Given the description of an element on the screen output the (x, y) to click on. 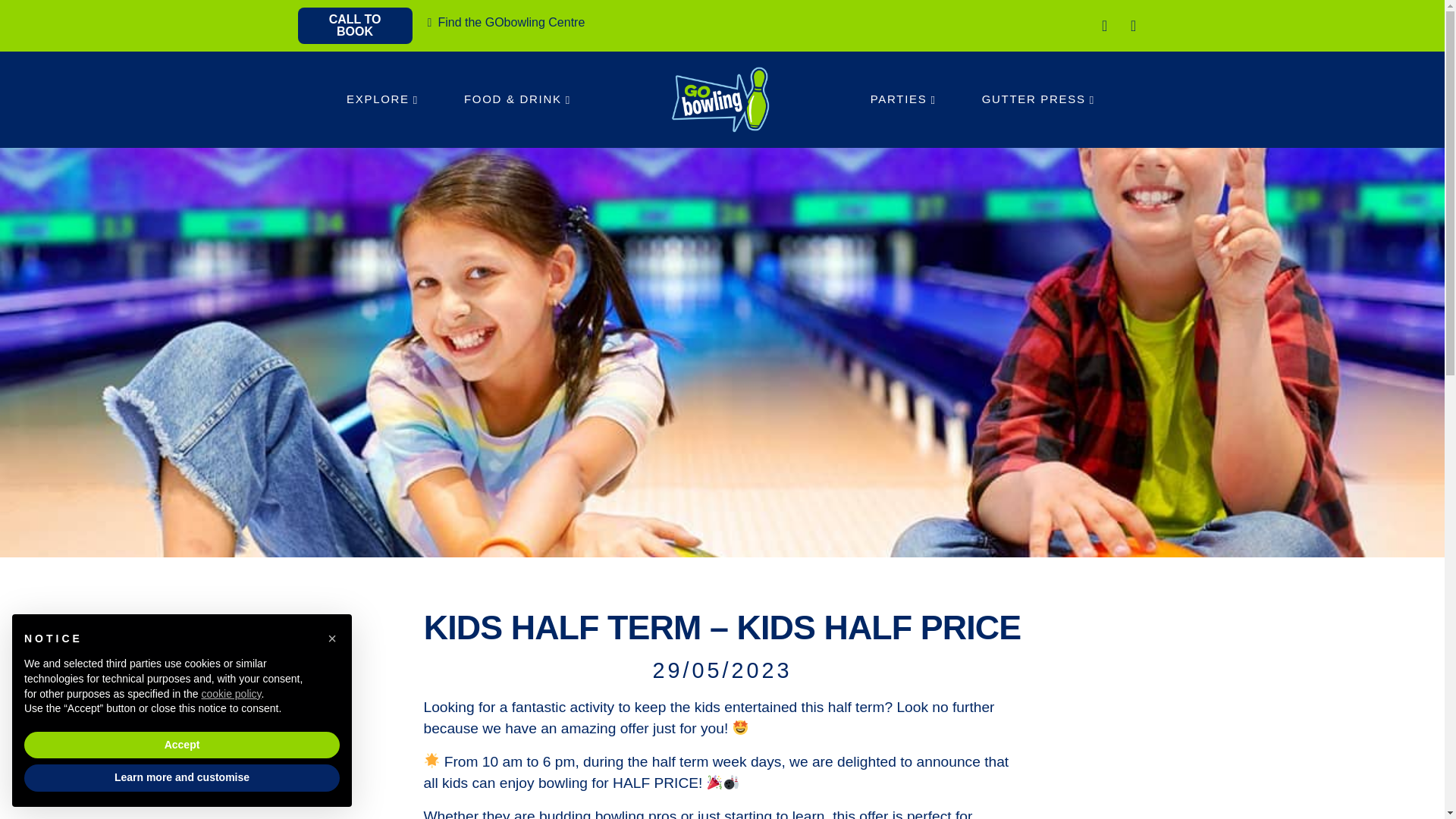
EXPLORE (382, 4)
PARTIES (904, 54)
GUTTER PRESS (1037, 76)
